Given the description of an element on the screen output the (x, y) to click on. 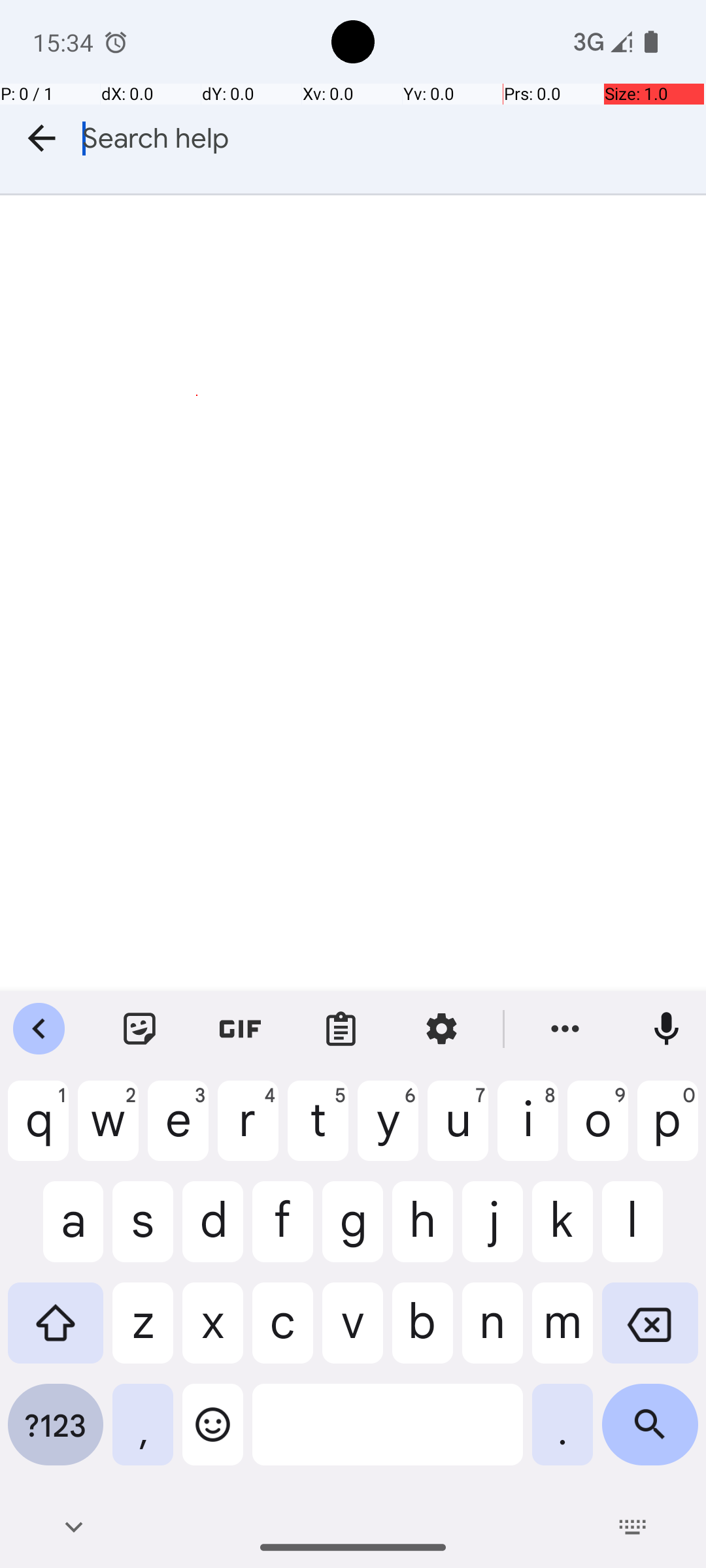
Search help Element type: android.widget.EditText (394, 138)
